Given the description of an element on the screen output the (x, y) to click on. 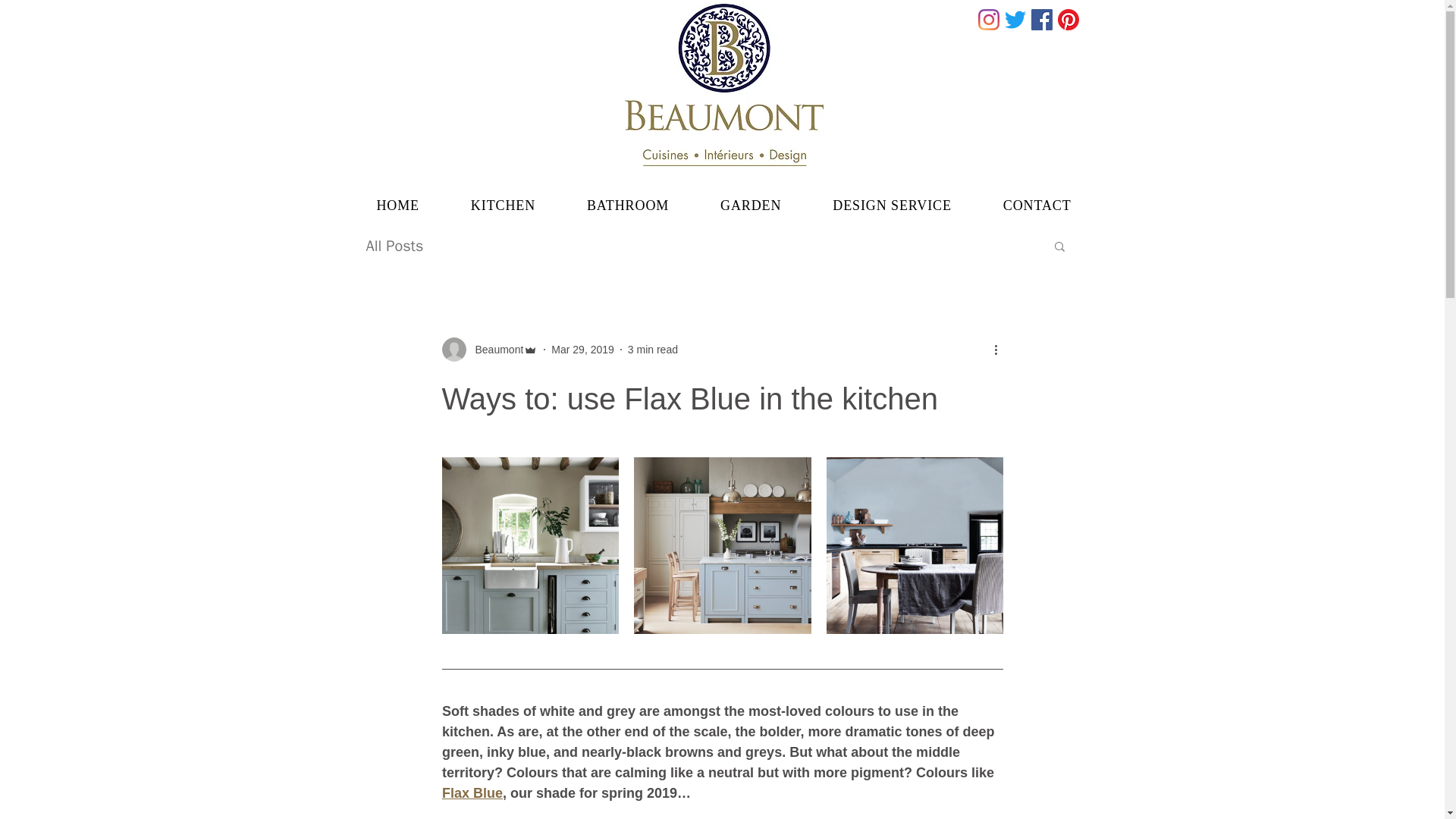
3 min read (652, 348)
Beaumont  (493, 349)
Beaumont (489, 349)
KITCHEN (502, 205)
BATHROOM (627, 205)
All Posts (394, 245)
Flax Blue (471, 792)
CONTACT (1036, 205)
GARDEN (750, 205)
HOME (397, 205)
Mar 29, 2019 (582, 348)
DESIGN SERVICE (891, 205)
